Given the description of an element on the screen output the (x, y) to click on. 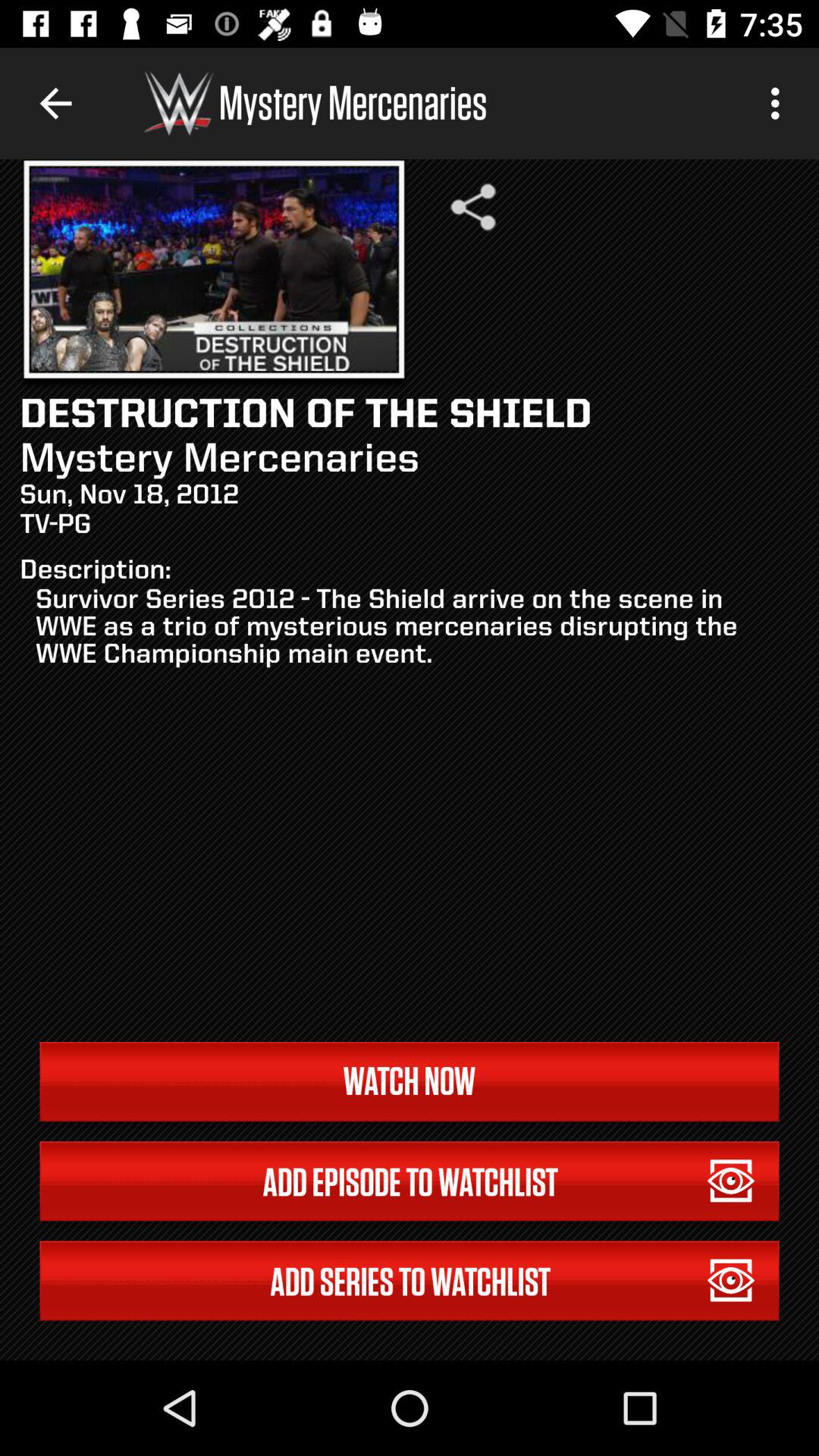
press the icon below the survivor series 2012 item (409, 1081)
